Given the description of an element on the screen output the (x, y) to click on. 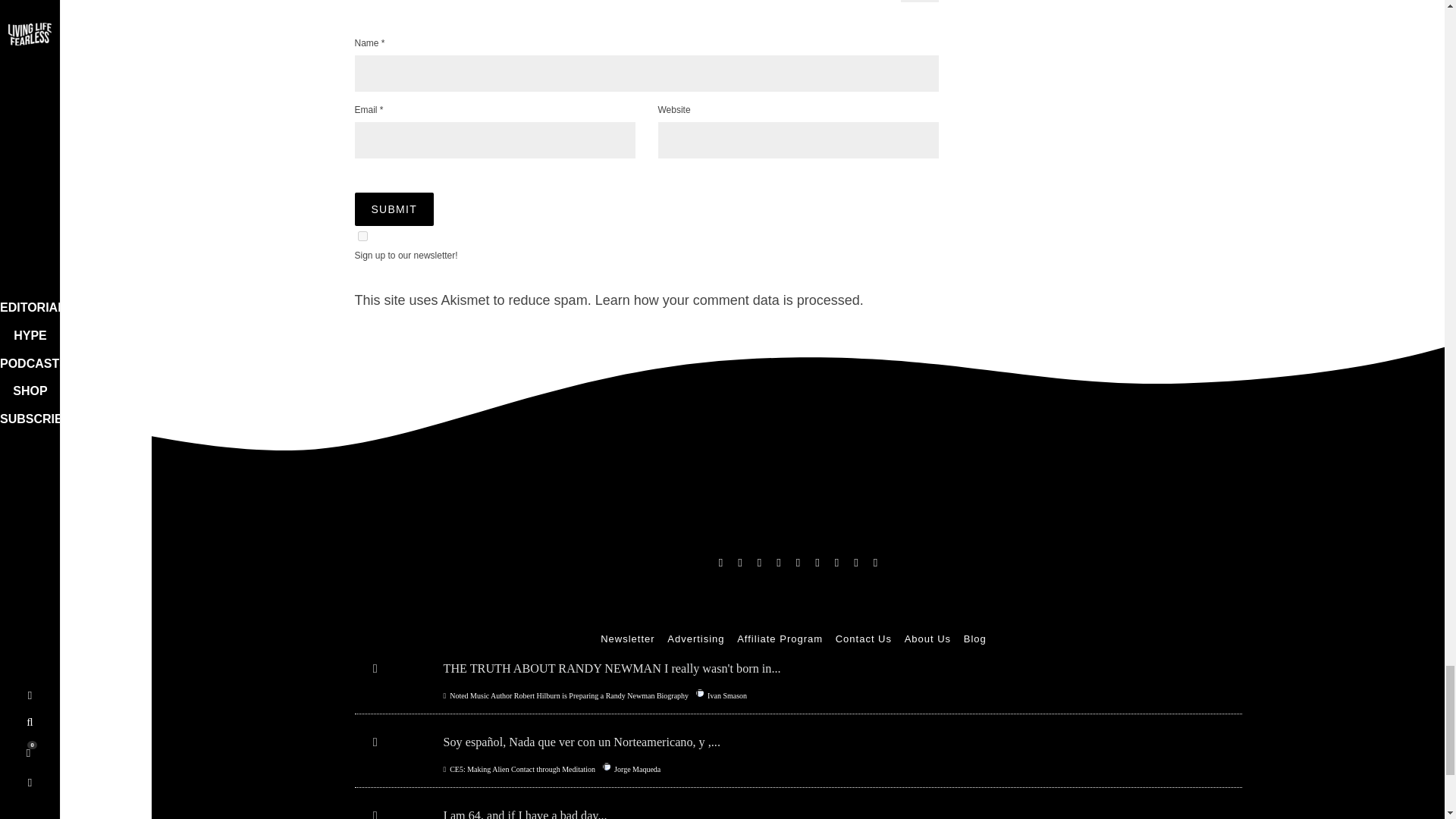
Submit (394, 209)
1 (363, 235)
Contact Us (863, 638)
2.5 (920, 1)
